Given the description of an element on the screen output the (x, y) to click on. 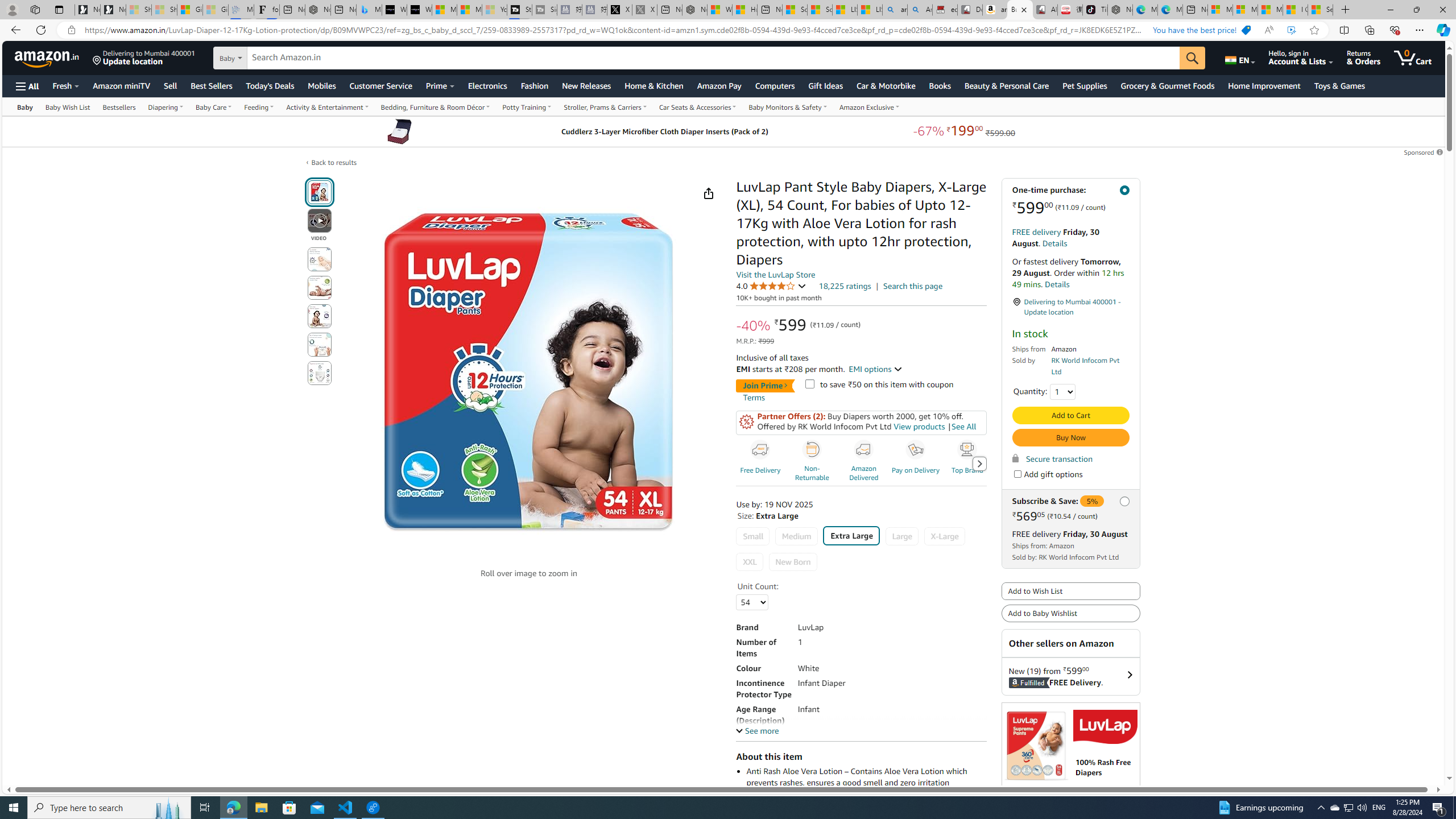
New Releases (586, 85)
Free Delivery (759, 449)
Add gift options (1017, 474)
Back to results (333, 162)
Enhance video (1291, 29)
Nordace - My Account (694, 9)
Go (1192, 57)
5% (1092, 500)
